Given the description of an element on the screen output the (x, y) to click on. 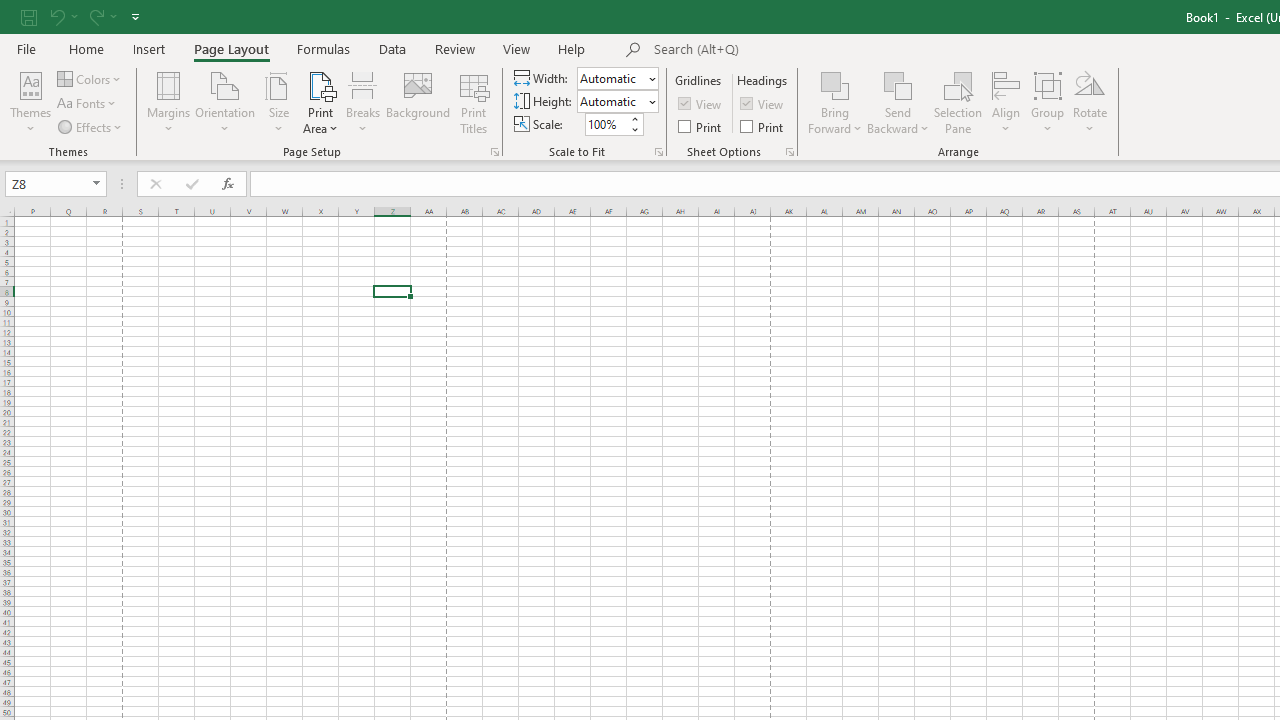
Breaks (362, 102)
Microsoft search (792, 49)
Print Area (320, 102)
Scale (605, 124)
Less (633, 129)
More (633, 118)
Send Backward (898, 84)
Page Setup (658, 151)
